Given the description of an element on the screen output the (x, y) to click on. 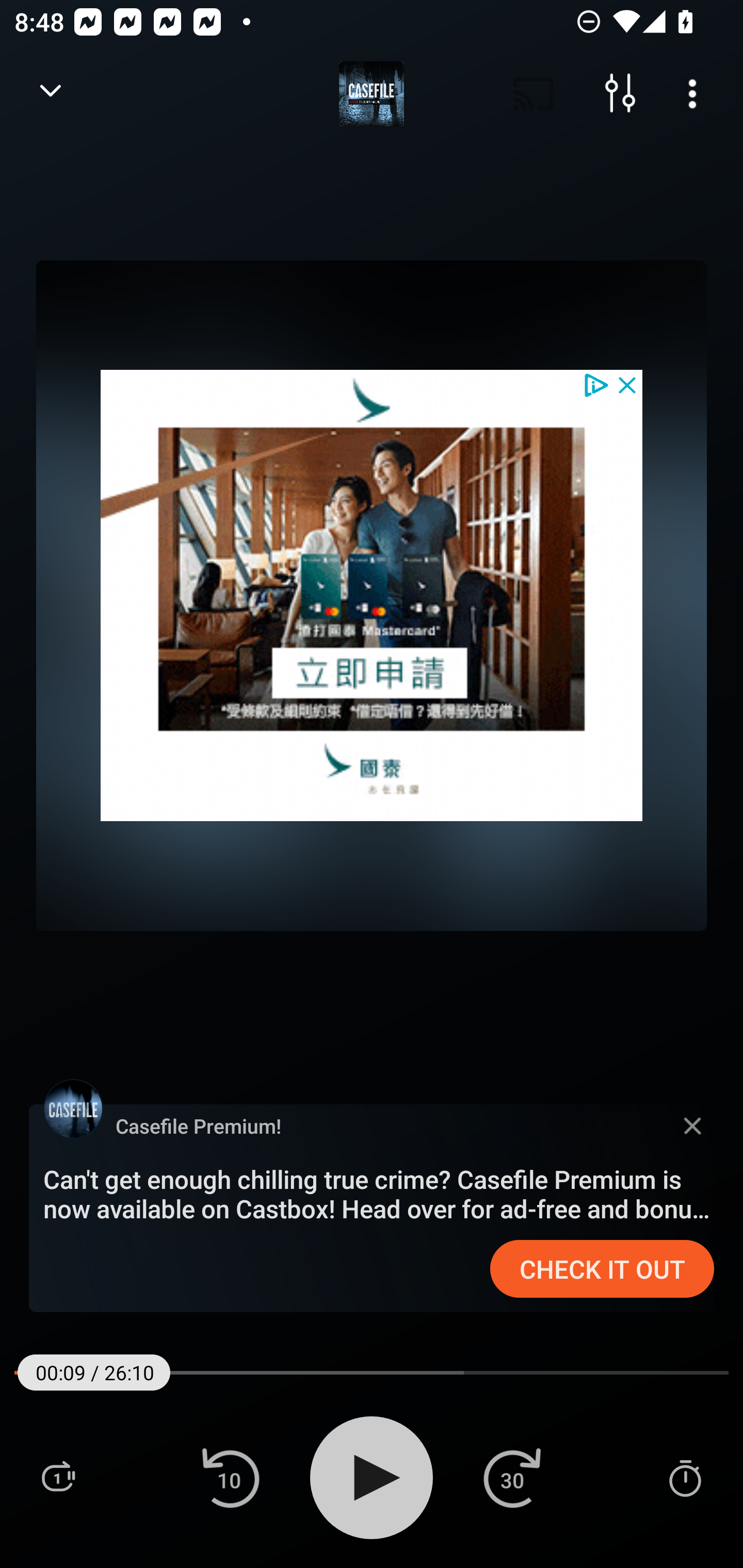
 Back (50, 94)
privacy_small (595, 384)
close_button (627, 384)
CHECK IT OUT (602, 1269)
 Playlist (57, 1477)
Sleep Timer  (684, 1477)
